Given the description of an element on the screen output the (x, y) to click on. 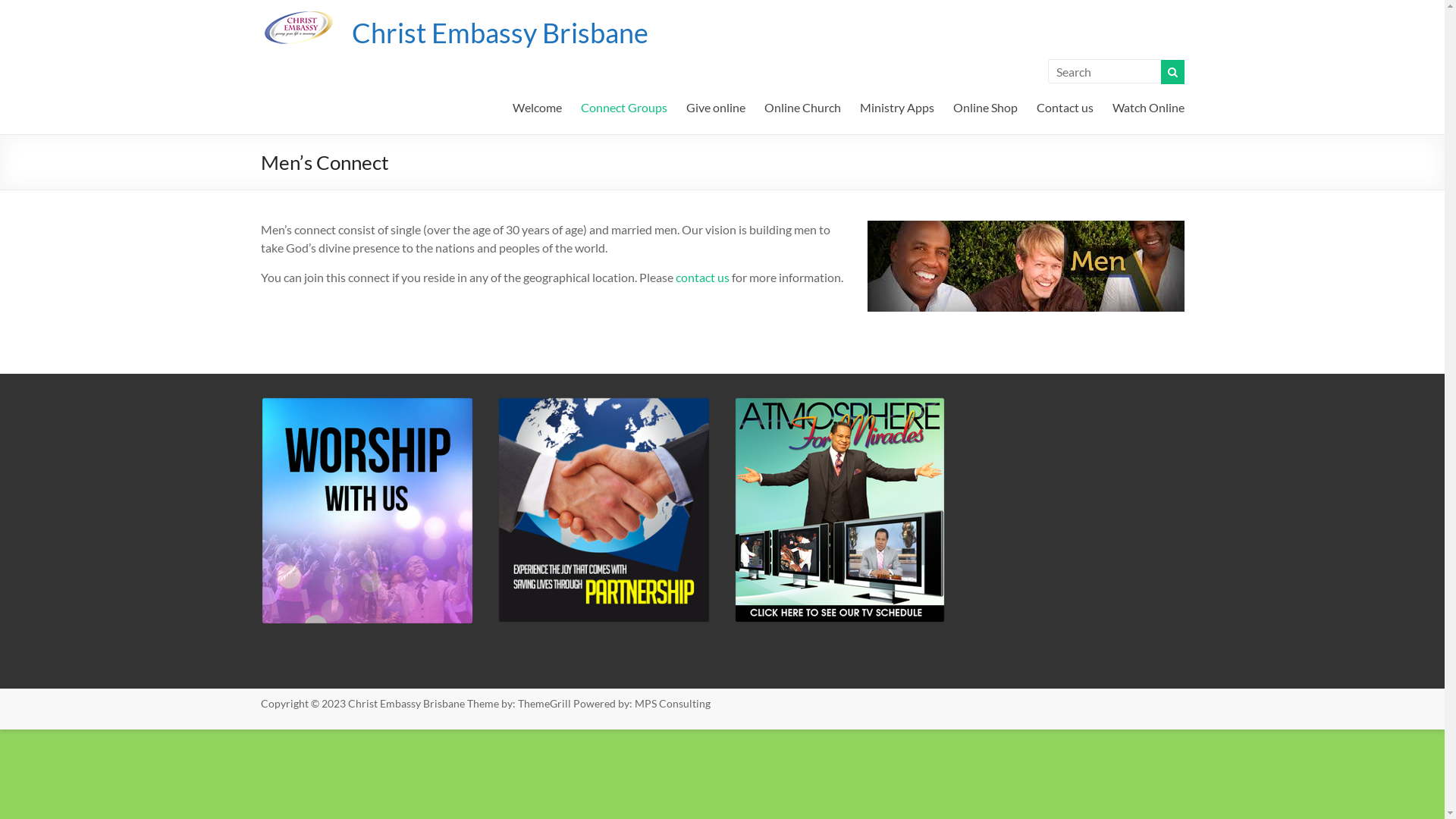
Watch Online Element type: text (1147, 104)
Welcome Element type: text (536, 104)
Give online Element type: text (714, 104)
Christ Embassy Brisbane Element type: text (405, 702)
Contact us Element type: text (1063, 104)
contact us Element type: text (701, 276)
Online Church Element type: text (802, 104)
Connect Groups Element type: text (623, 104)
Online Shop Element type: text (984, 104)
ThemeGrill Element type: text (543, 702)
Ministry Apps Element type: text (896, 104)
Christ Embassy Brisbane Element type: text (499, 32)
